Given the description of an element on the screen output the (x, y) to click on. 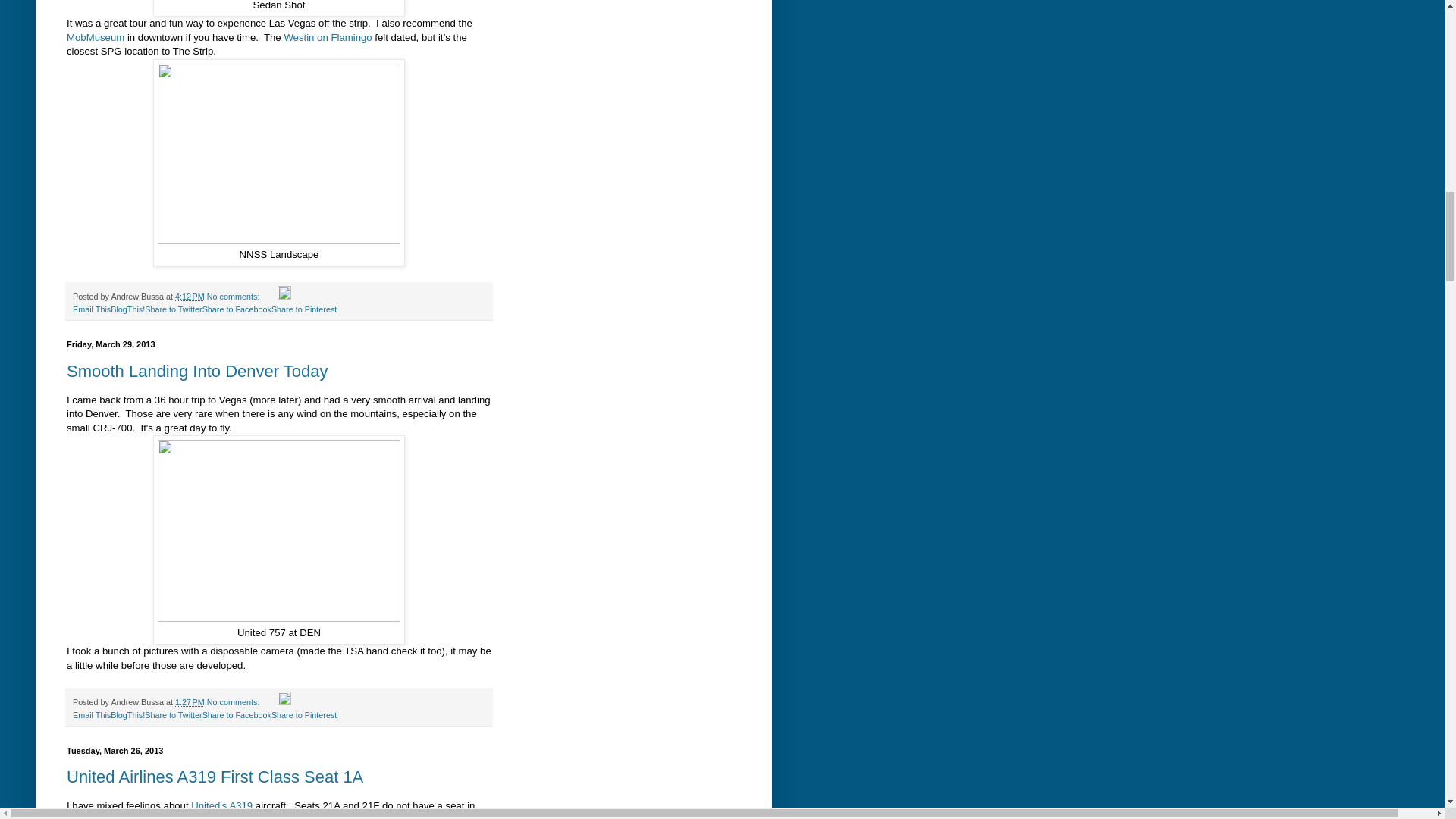
Email This (91, 308)
Email This (91, 308)
Email This (91, 714)
Share to Facebook (236, 714)
Share to Twitter (173, 308)
BlogThis! (127, 714)
BlogThis! (127, 714)
United Airlines A319 First Class Seat 1A (214, 776)
permanent link (189, 701)
